Given the description of an element on the screen output the (x, y) to click on. 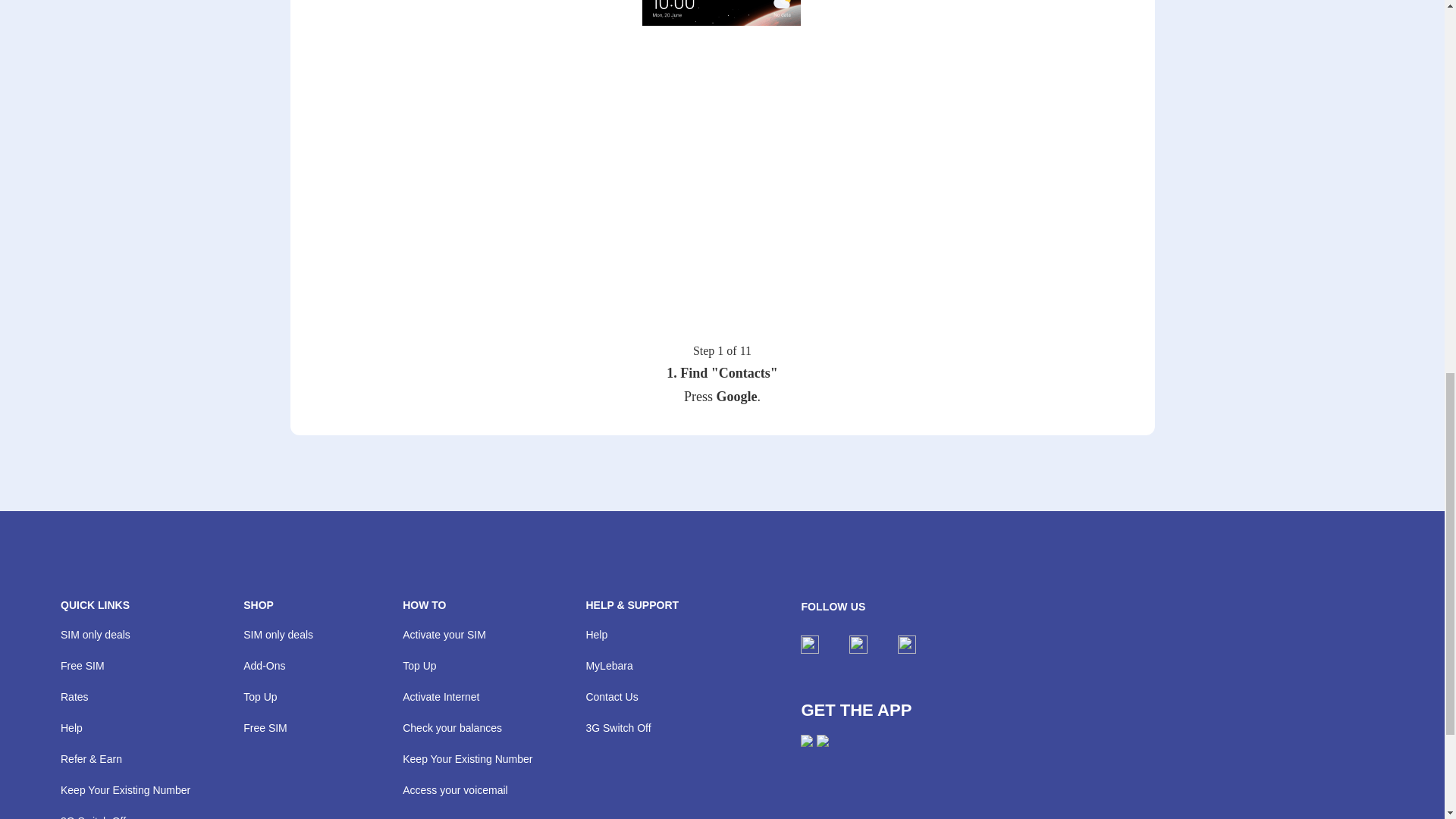
Rates (74, 696)
SIM only deals (96, 634)
Keep Your Existing Number (125, 789)
Free SIM (82, 665)
Help (71, 727)
